Given the description of an element on the screen output the (x, y) to click on. 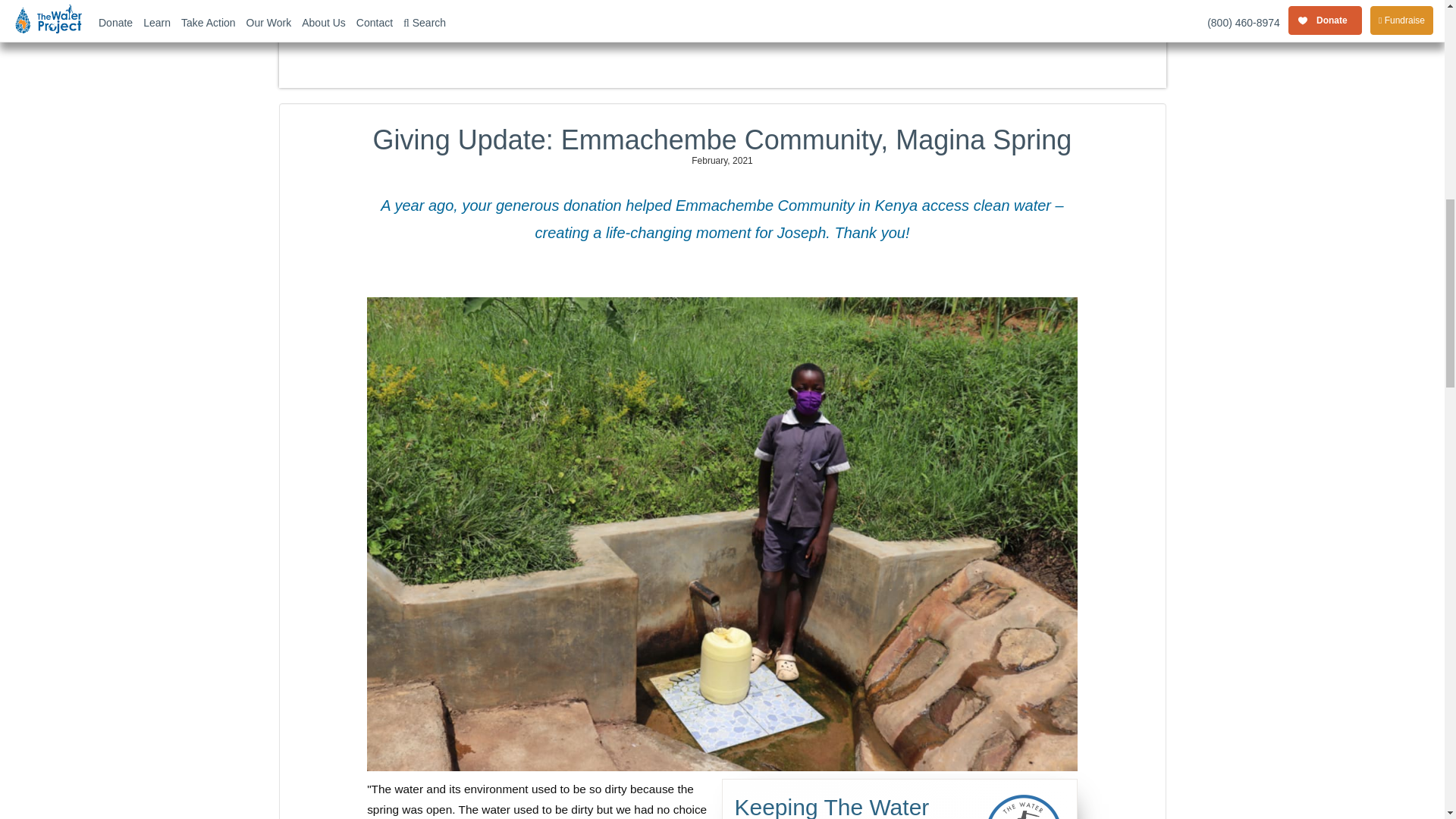
Hygiene and Sanitation Training (831, 1)
Protected Spring (609, 8)
Protected Spring (609, 1)
Chlorine Dispenser (742, 1)
Community Engagement (698, 1)
Monitoring and Resolution (877, 1)
Local Leadership (654, 1)
